Given the description of an element on the screen output the (x, y) to click on. 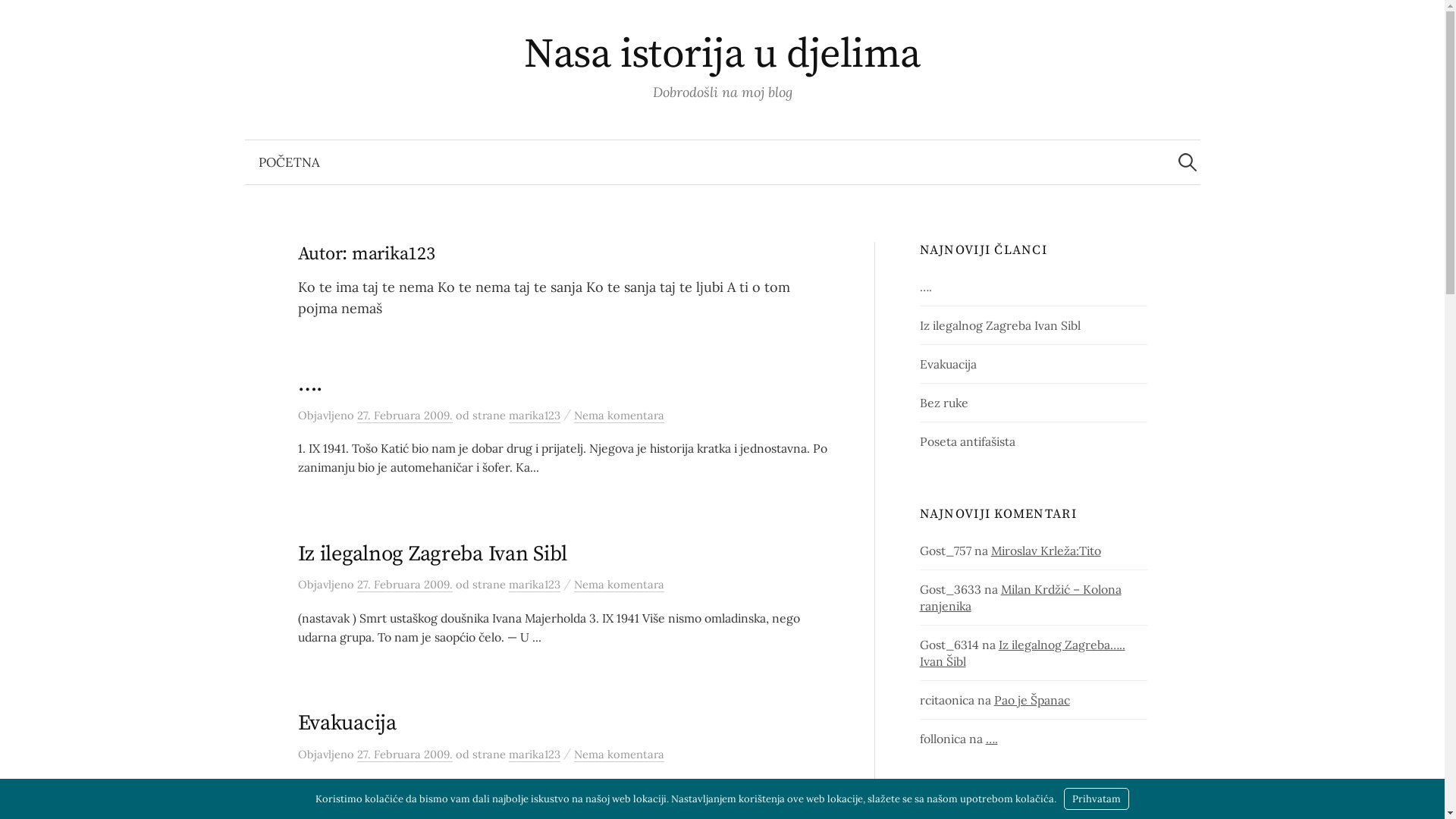
Pretraga Element type: text (18, 18)
marika123 Element type: text (533, 754)
Iz ilegalnog Zagreba Ivan Sibl Element type: text (999, 324)
marika123 Element type: text (533, 415)
27. Februara 2009. Element type: text (403, 415)
Nasa istorija u djelima Element type: text (722, 54)
marika123 Element type: text (533, 584)
Nema komentara
na Iz ilegalnog Zagreba Ivan Sibl Element type: text (618, 584)
Iz ilegalnog Zagreba Ivan Sibl Element type: text (432, 553)
Bez ruke Element type: text (943, 402)
Evakuacija Element type: text (346, 722)
Evakuacija Element type: text (947, 363)
Nema komentara
na Evakuacija Element type: text (618, 754)
Prihvatam Element type: text (1096, 798)
27. Februara 2009. Element type: text (403, 584)
27. Februara 2009. Element type: text (403, 754)
